Given the description of an element on the screen output the (x, y) to click on. 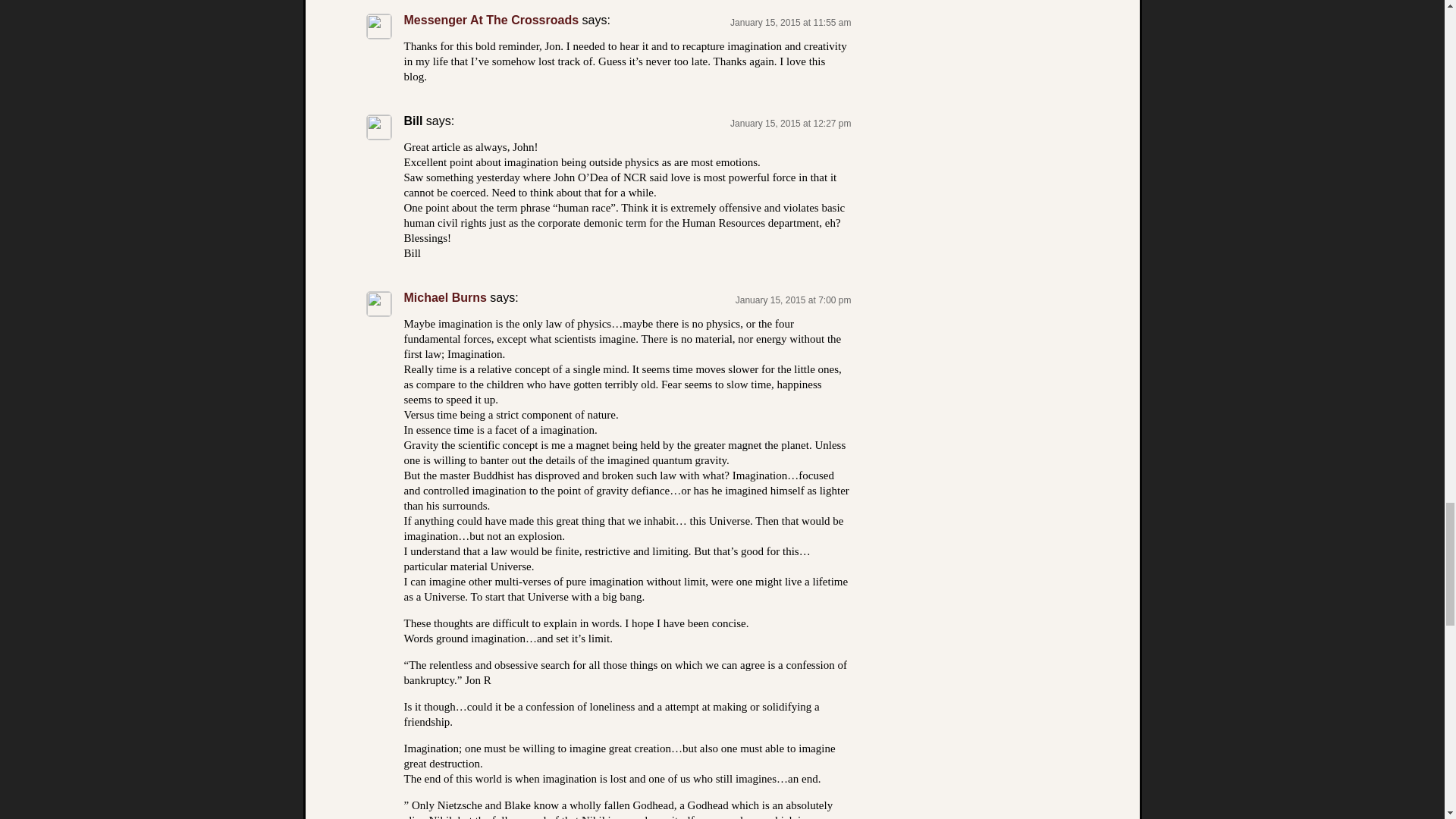
January 15, 2015 at 7:00 pm (793, 299)
Messenger At The Crossroads (490, 19)
Michael Burns (444, 297)
January 15, 2015 at 11:55 am (790, 22)
January 15, 2015 at 12:27 pm (790, 122)
